Given the description of an element on the screen output the (x, y) to click on. 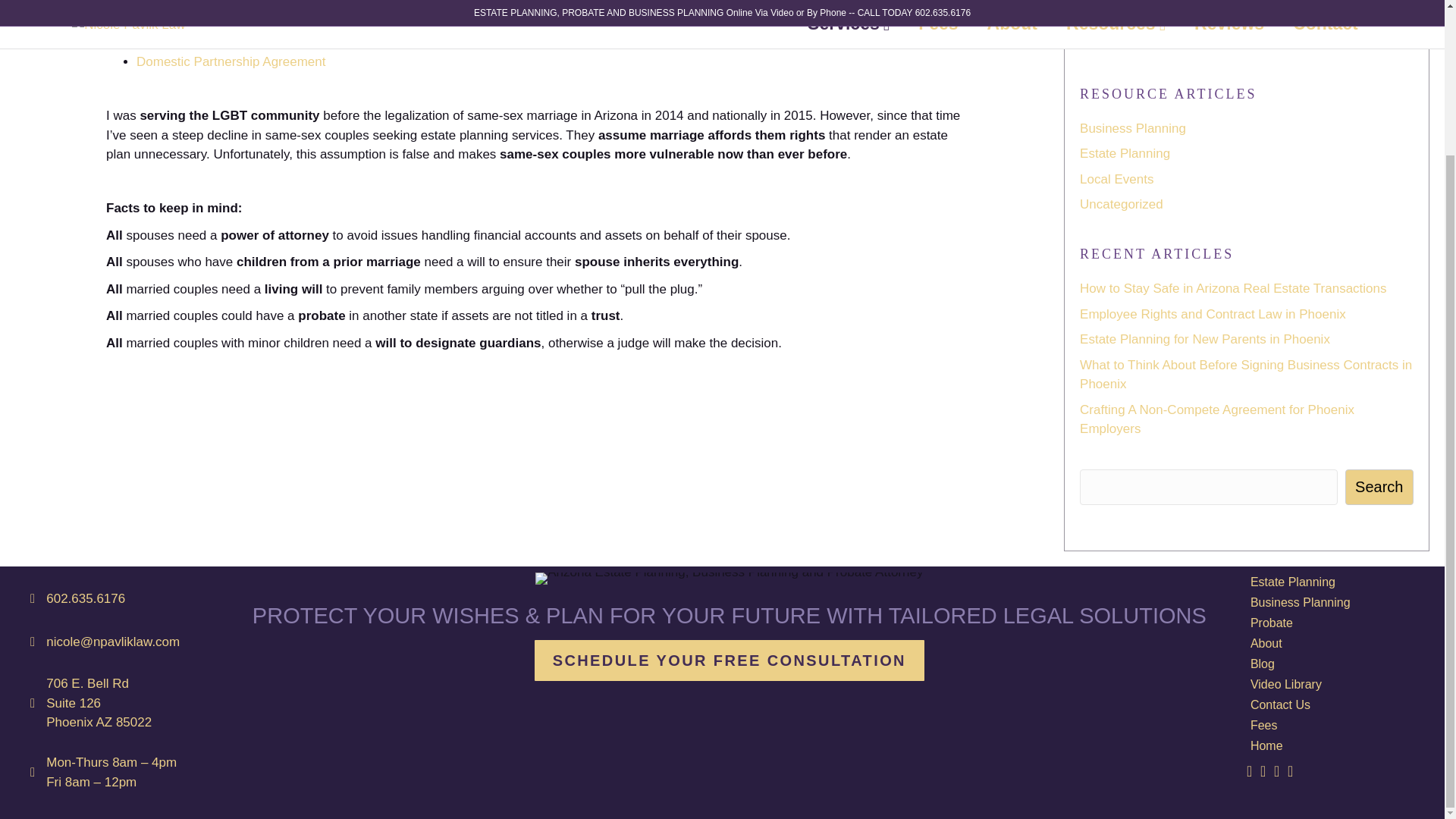
Domestic Partnership Agreement (230, 61)
Hospital Visitation Authorization (226, 22)
Call  (85, 598)
Parental Power of Attorney (212, 42)
Probate (1102, 43)
Business Planning (1133, 128)
Business Planning (1133, 19)
Estate Planning (1125, 153)
